Given the description of an element on the screen output the (x, y) to click on. 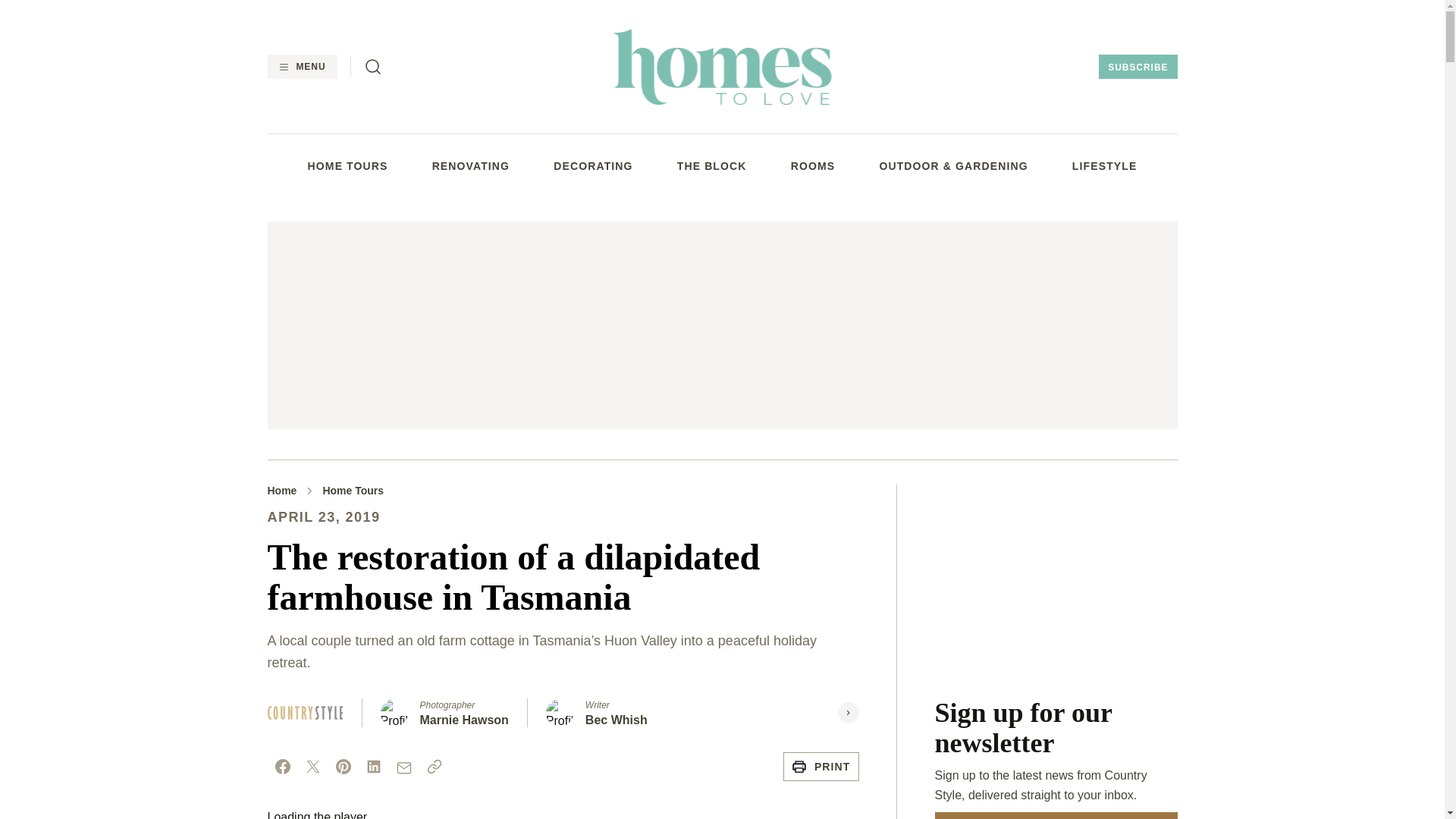
DECORATING (592, 165)
SUBSCRIBE (1137, 66)
THE BLOCK (711, 165)
HOME TOURS (347, 165)
MENU (301, 66)
ROOMS (812, 165)
LIFESTYLE (1104, 165)
RENOVATING (470, 165)
